Given the description of an element on the screen output the (x, y) to click on. 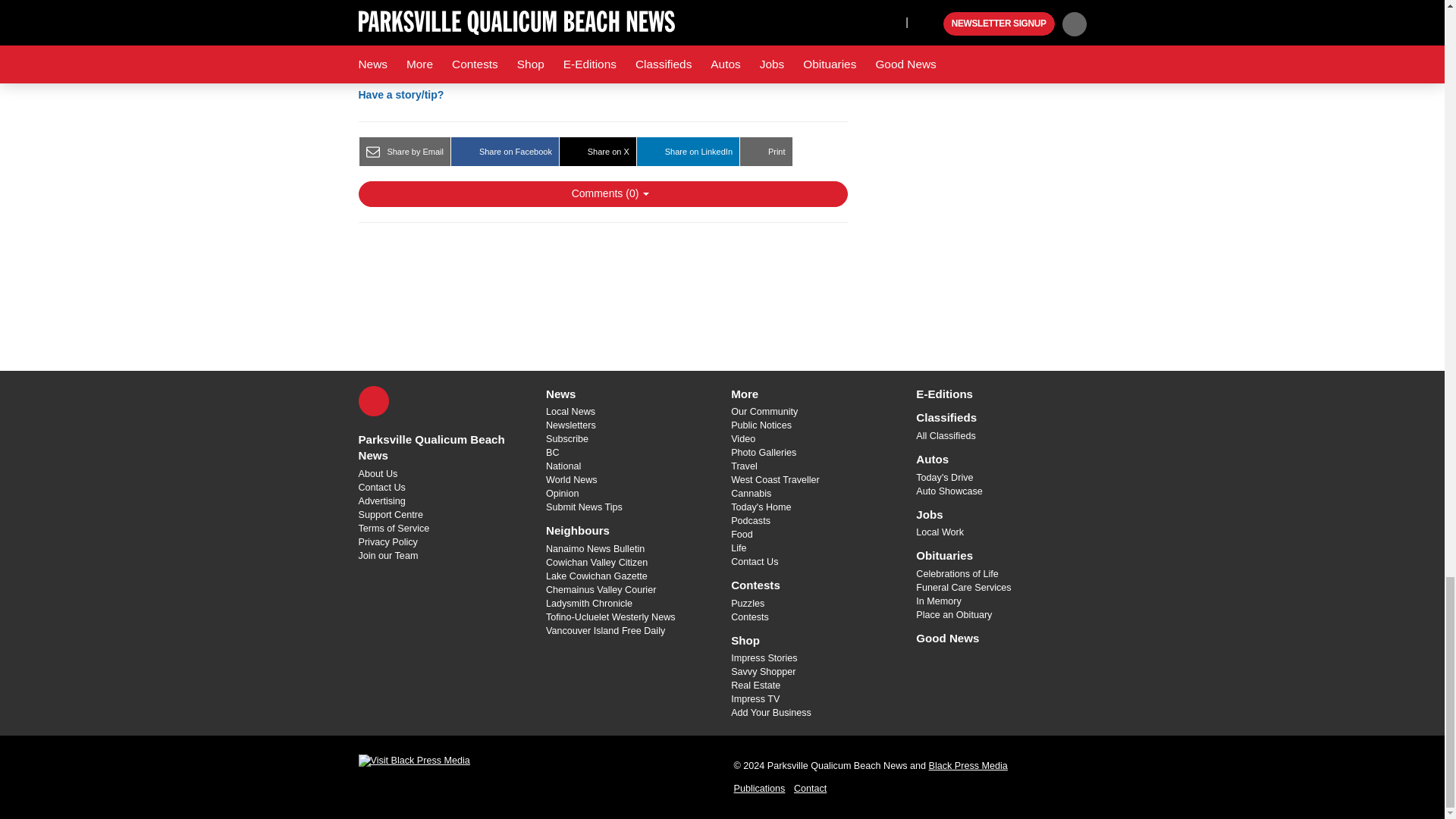
X (373, 400)
Show Comments (602, 193)
related story (585, 20)
